Given the description of an element on the screen output the (x, y) to click on. 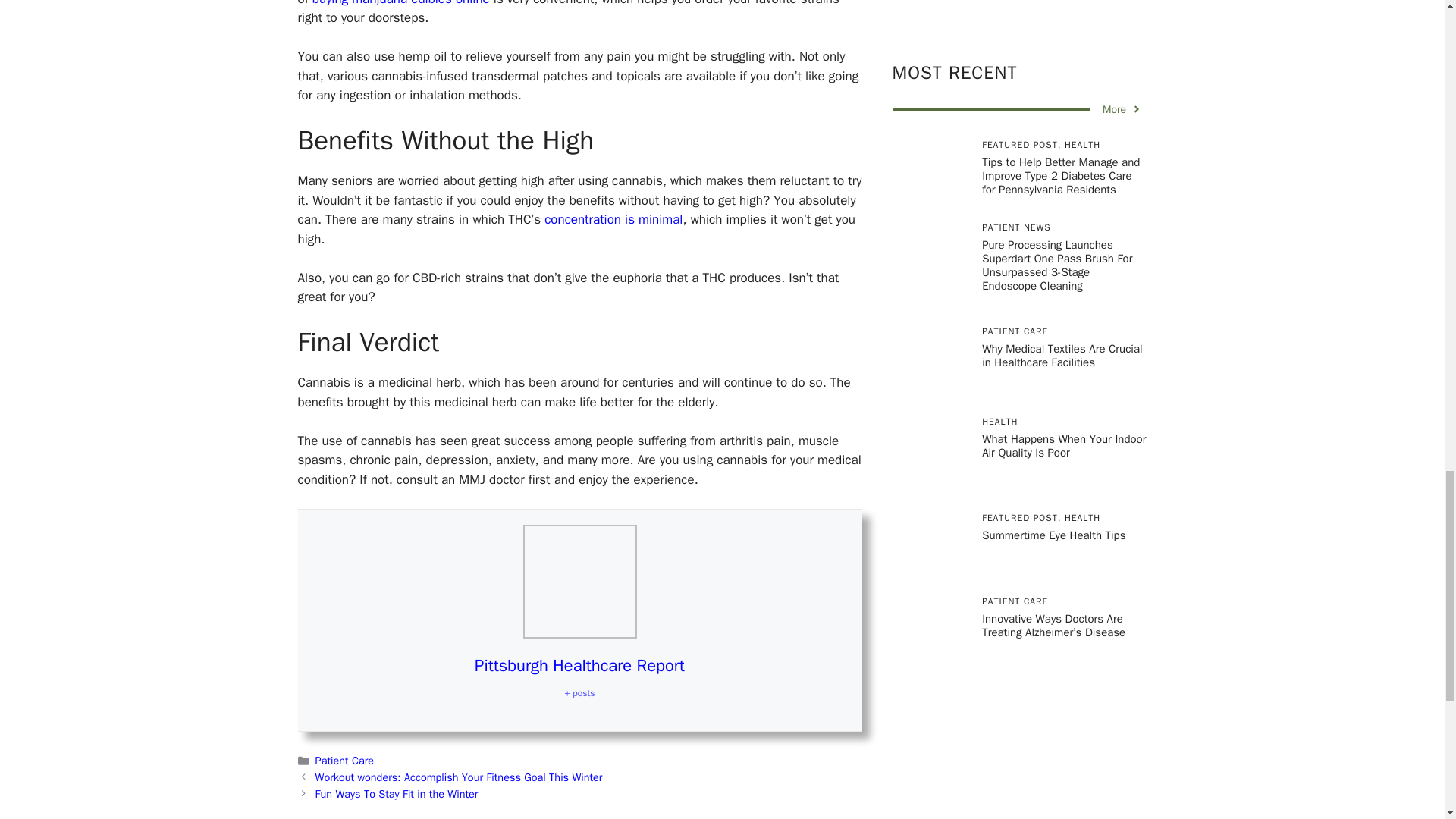
Pittsburgh Healthcare Report (579, 665)
Fun Ways To Stay Fit in the Winter (397, 793)
Workout wonders: Accomplish Your Fitness Goal This Winter (458, 776)
buying marijuana edibles online (401, 3)
Patient Care (344, 760)
concentration is minimal (613, 219)
Seniors and Medical Marijuana: What Should You Know? 1 (579, 581)
